Given the description of an element on the screen output the (x, y) to click on. 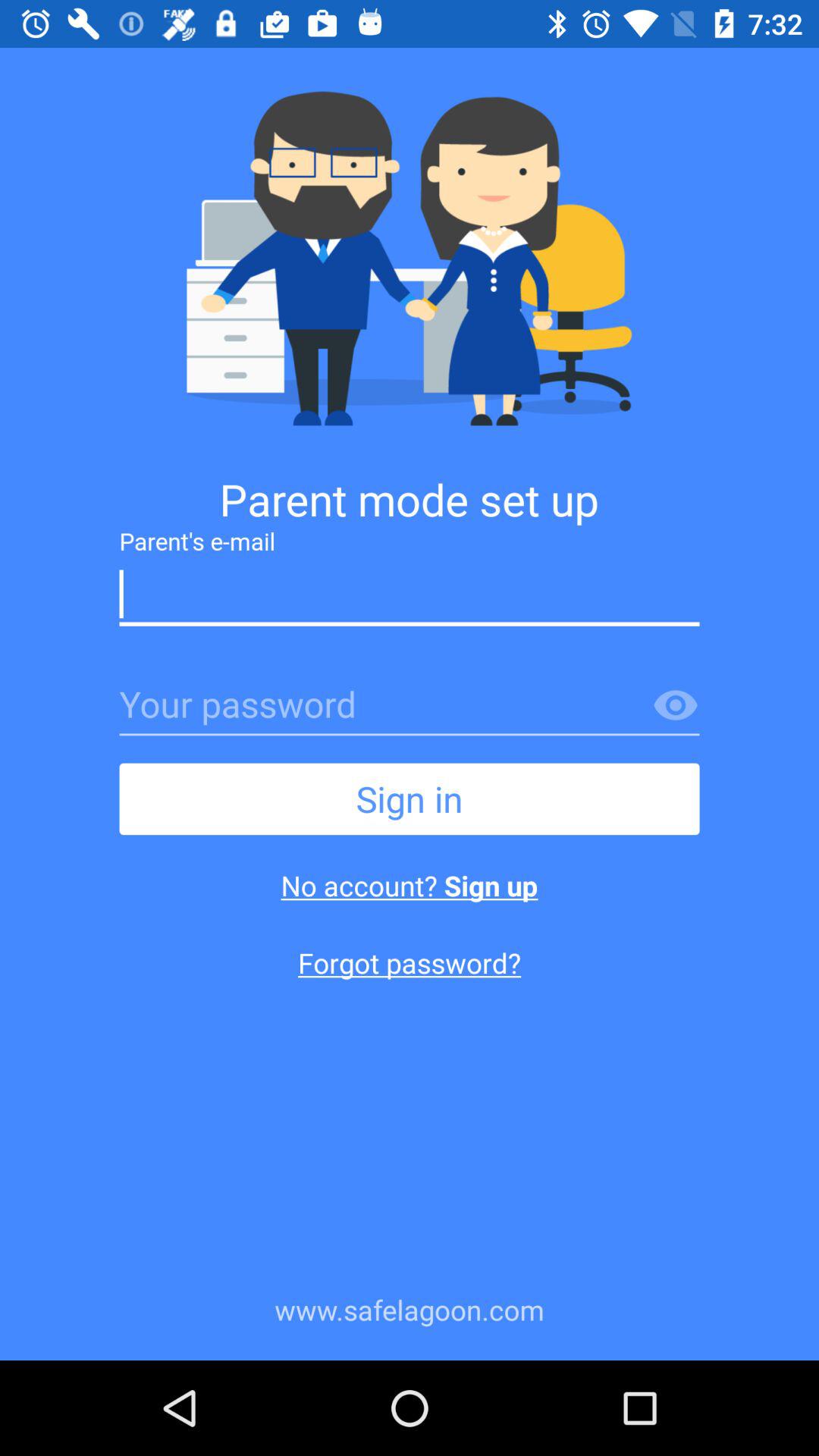
password view (675, 705)
